Given the description of an element on the screen output the (x, y) to click on. 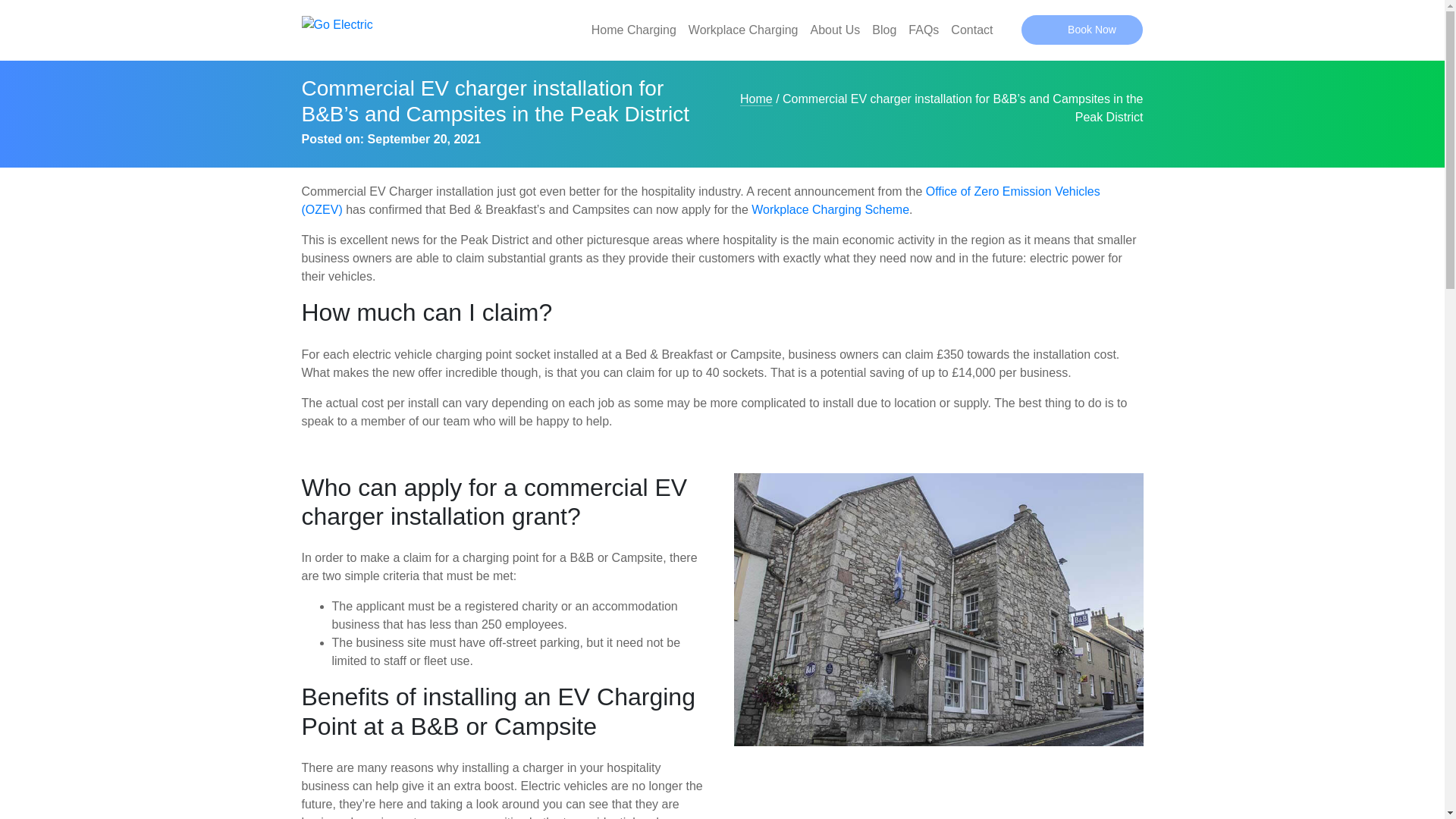
Home Charging (633, 30)
FAQs (923, 30)
Book Now (1082, 30)
Contact (971, 30)
Blog (884, 30)
Workplace Charging Scheme (829, 209)
Home (756, 99)
About Us (834, 30)
Workplace Charging (743, 30)
